Given the description of an element on the screen output the (x, y) to click on. 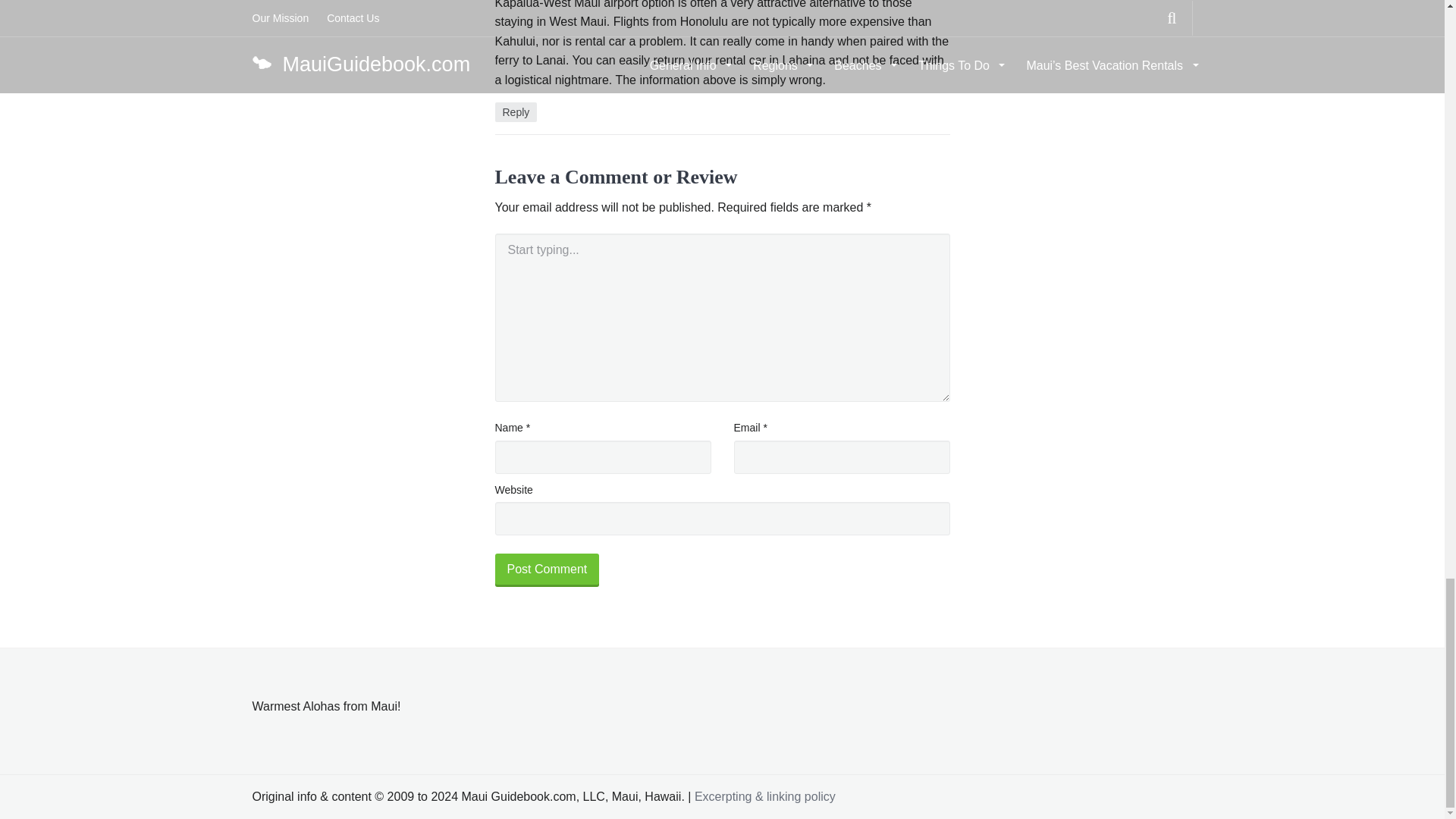
Post Comment (546, 570)
Reply (516, 112)
